Given the description of an element on the screen output the (x, y) to click on. 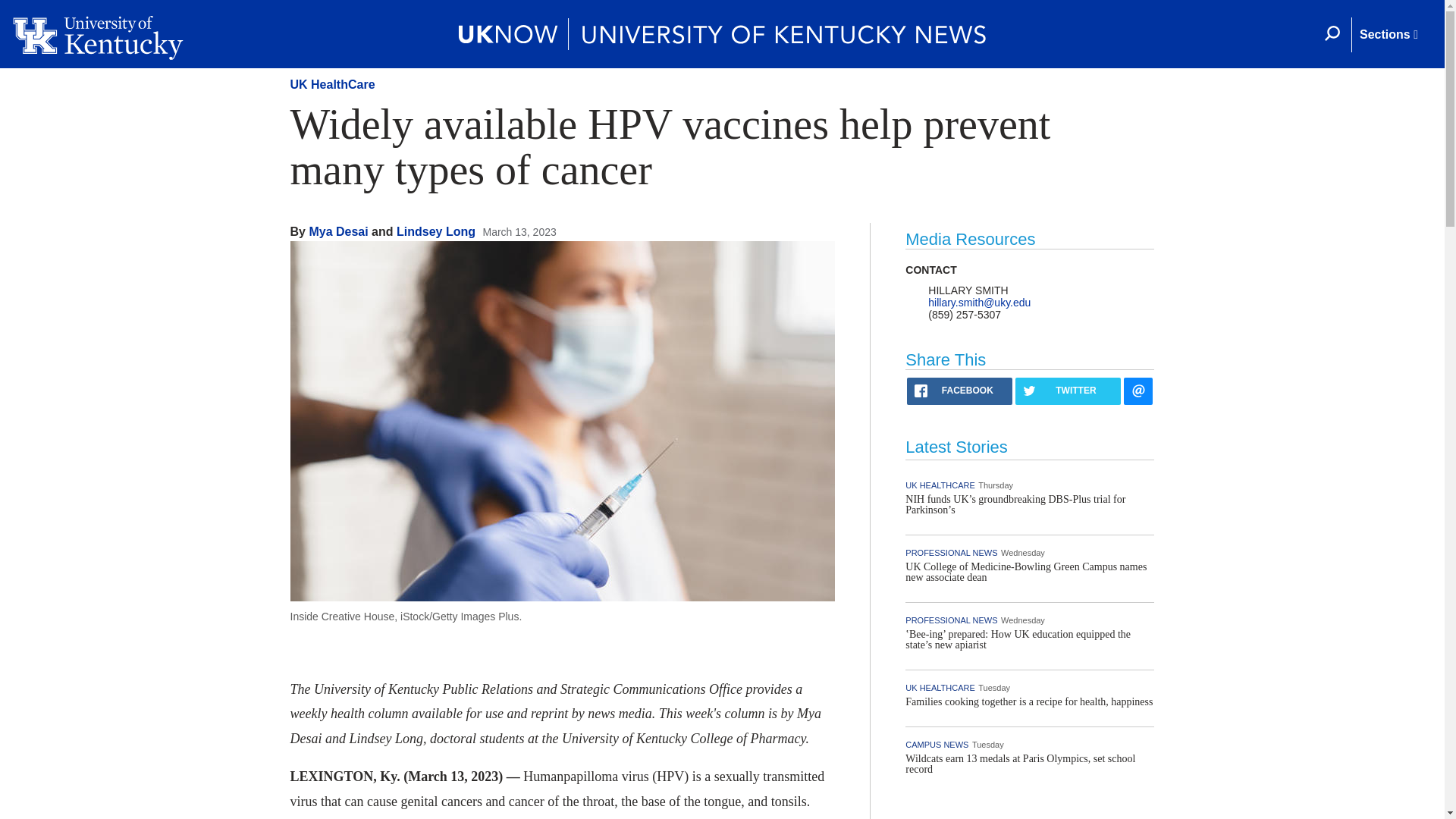
Section navigation menu (1388, 34)
FACEBOOK (959, 390)
Families cooking together is a recipe for health, happiness (1029, 701)
Mya Desai (338, 231)
TWITTER (1067, 390)
Lindsey Long (436, 231)
Sections (1388, 34)
UK HealthCare (331, 83)
